Given the description of an element on the screen output the (x, y) to click on. 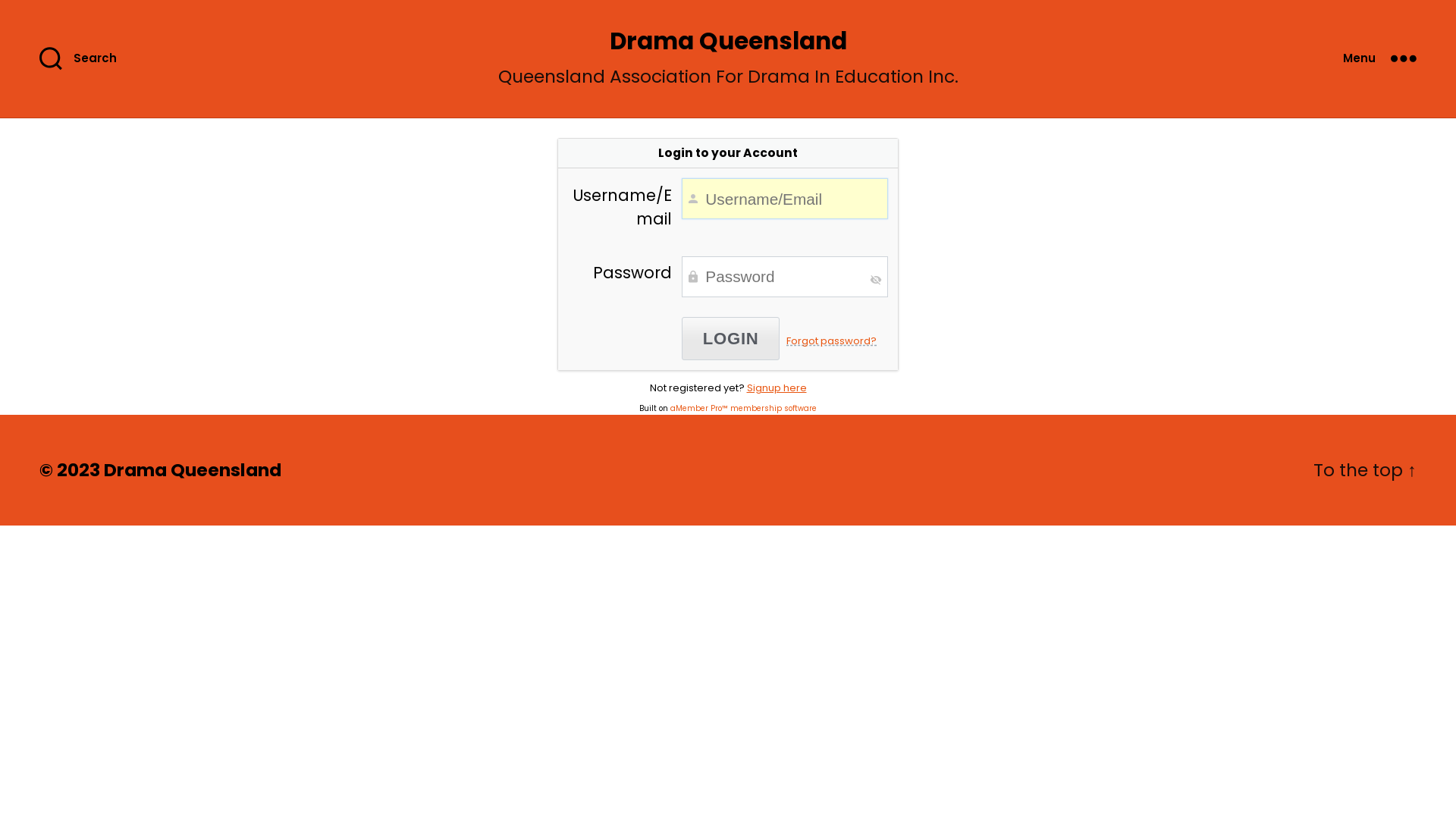
Toggle Password Visibility Element type: hover (875, 279)
Login Element type: text (730, 338)
Search Element type: text (85, 58)
Forgot password? Element type: text (831, 340)
Menu Element type: text (1379, 58)
Drama Queensland Element type: text (192, 469)
Drama Queensland Element type: text (728, 41)
Signup here Element type: text (776, 387)
